Given the description of an element on the screen output the (x, y) to click on. 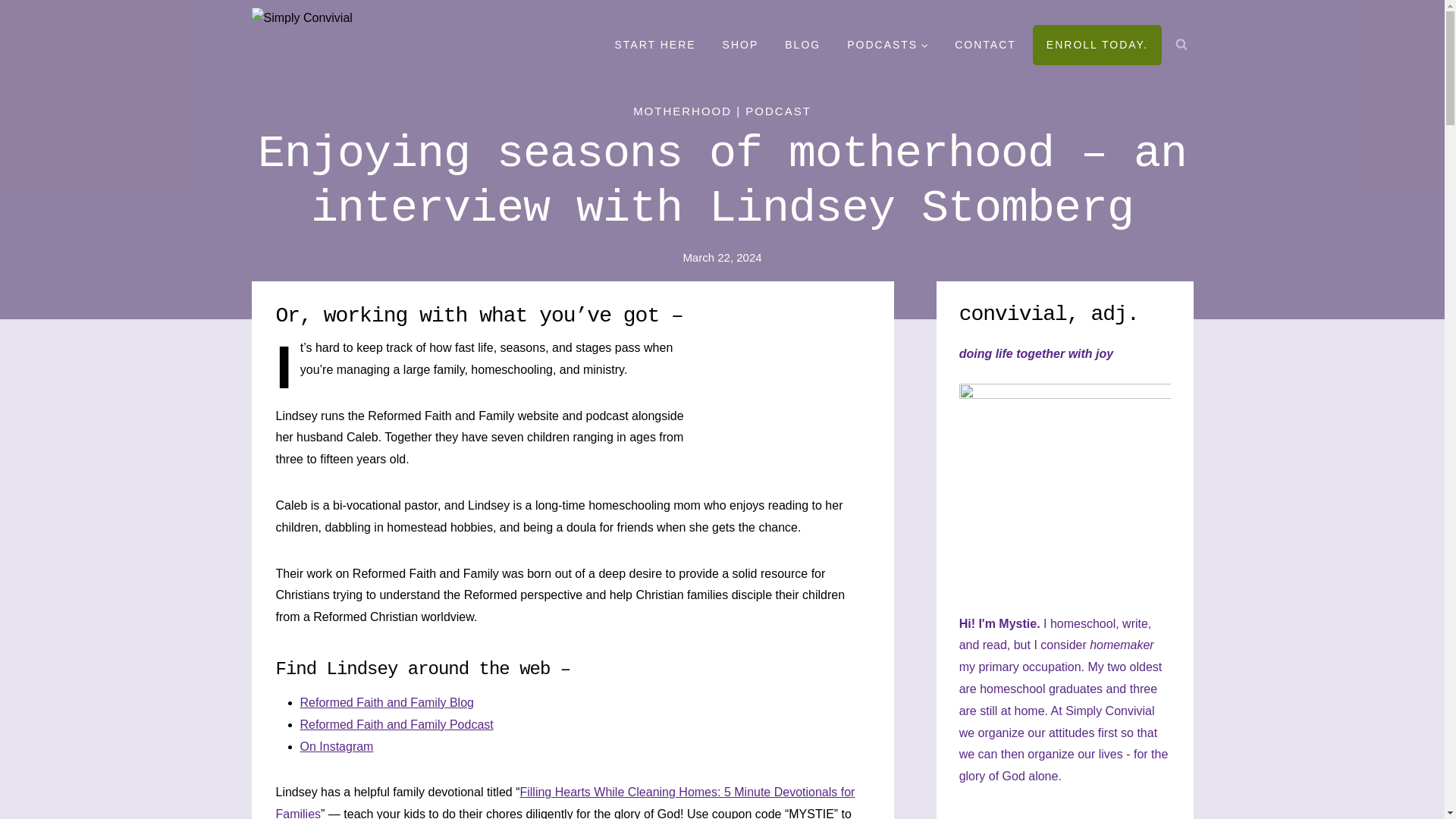
MOTHERHOOD (682, 110)
PODCAST (777, 110)
Reformed Faith and Family Blog (386, 702)
BLOG (802, 45)
Reformed Faith and Family Podcast (396, 724)
PODCASTS (888, 45)
START HERE (655, 45)
SHOP (740, 45)
ENROLL TODAY. (1096, 45)
CONTACT (985, 45)
On Instagram (336, 746)
